Given the description of an element on the screen output the (x, y) to click on. 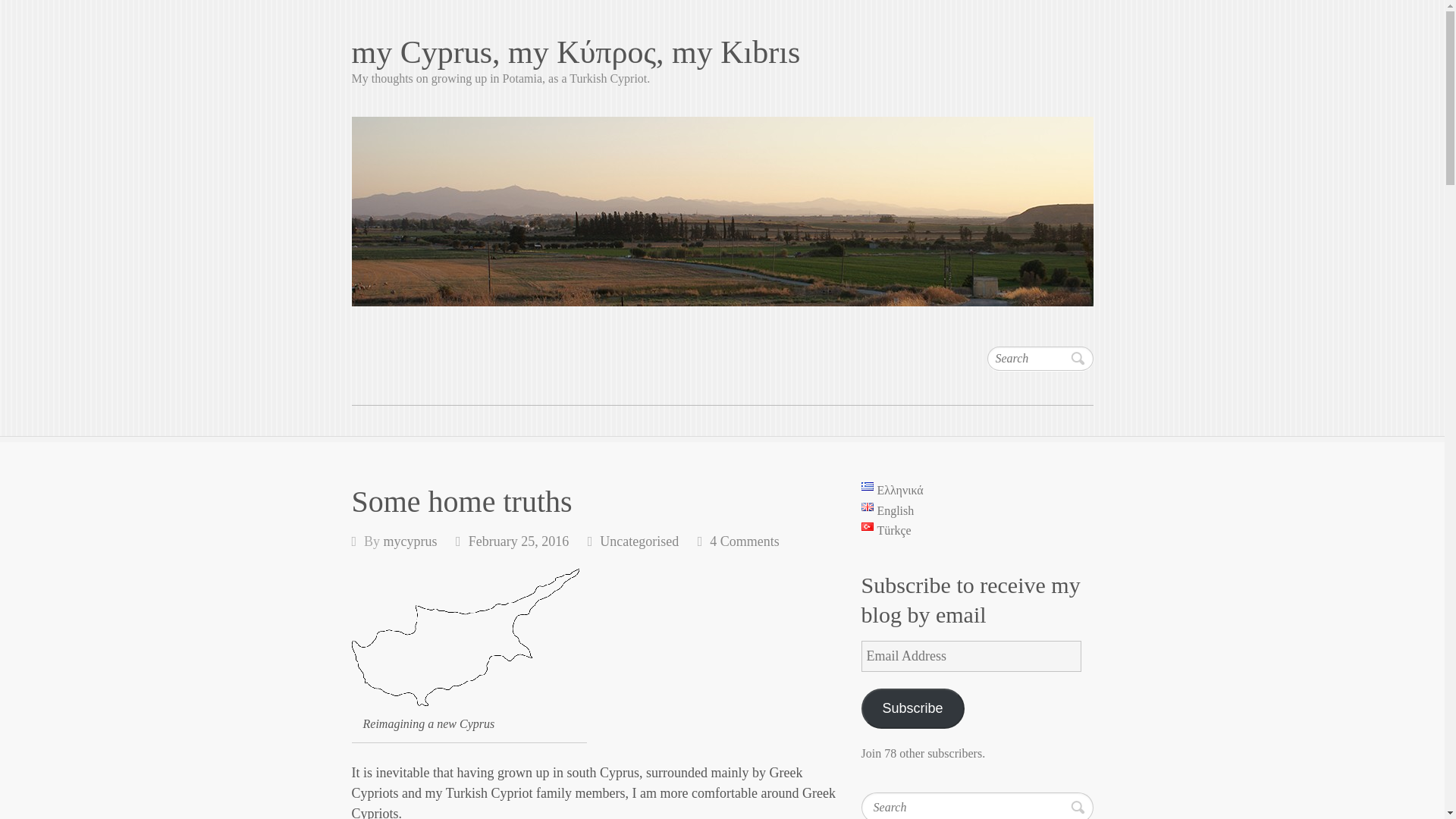
mycyprus (411, 540)
1:26 pm (518, 540)
February 25, 2016 (518, 540)
Uncategorised (638, 540)
4 Comments (744, 540)
